Given the description of an element on the screen output the (x, y) to click on. 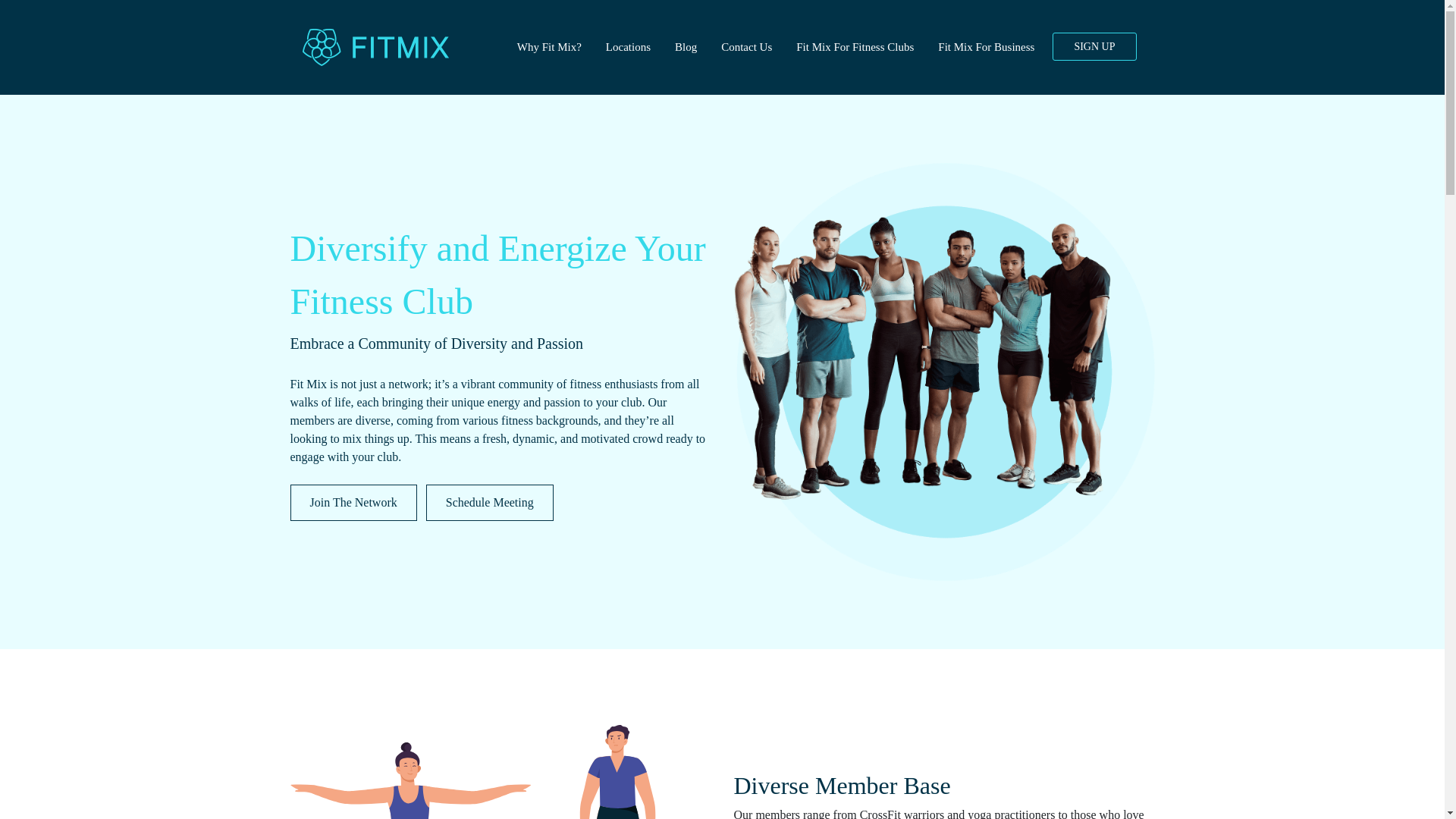
Fit Mix For Fitness Clubs (855, 47)
Join The Network (352, 502)
Contact Us (745, 47)
Locations (627, 47)
Blog (685, 47)
Why Fit Mix? (549, 47)
Fit Mix For Business (986, 47)
Schedule Meeting (489, 502)
SIGN UP (1093, 46)
